Given the description of an element on the screen output the (x, y) to click on. 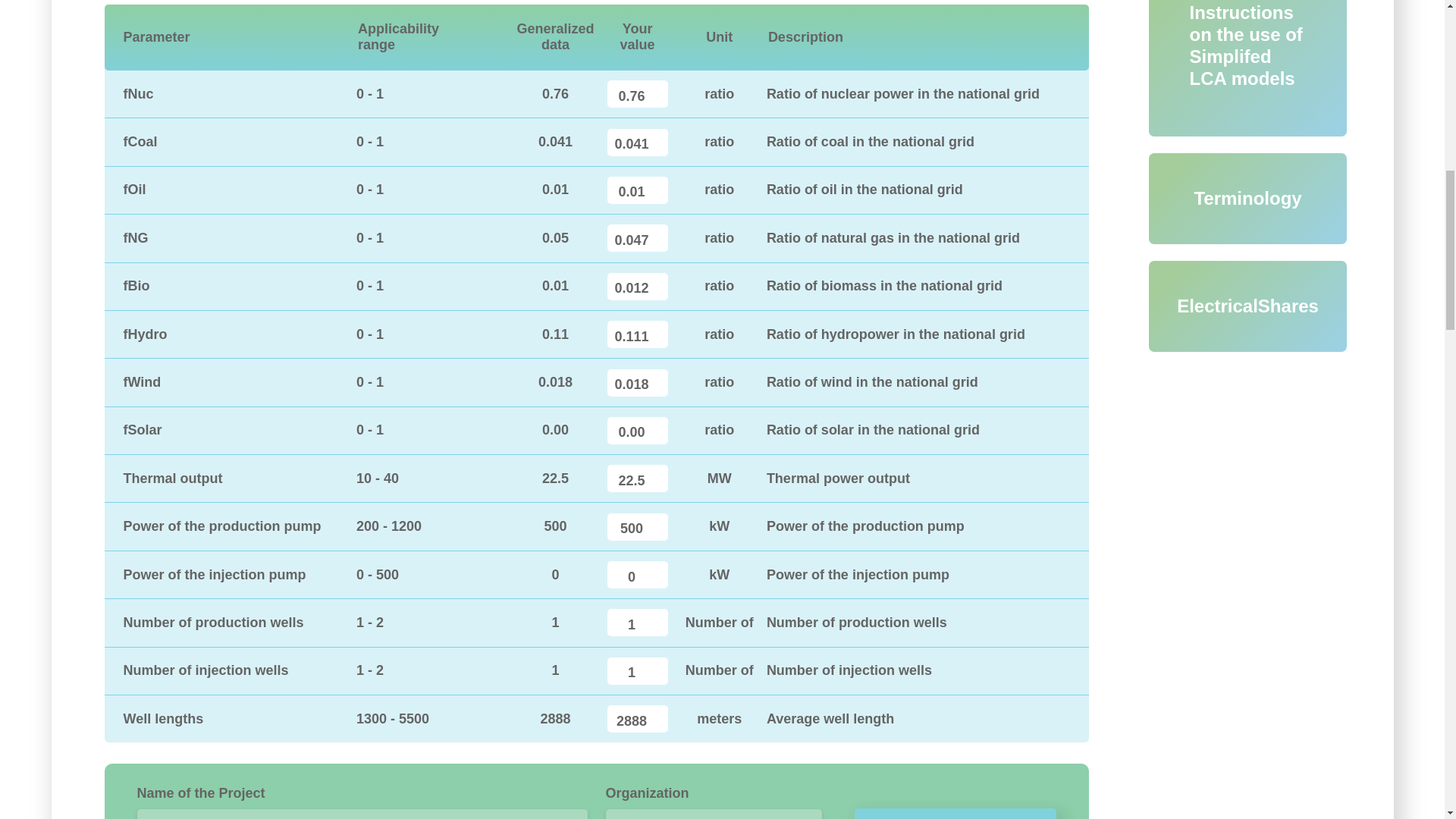
Generate Result (955, 813)
0.00 (637, 430)
0.018 (637, 381)
2888 (637, 718)
0.01 (637, 189)
0.012 (637, 286)
22.5 (637, 478)
1 (637, 622)
0.041 (637, 142)
0.111 (637, 334)
